Given the description of an element on the screen output the (x, y) to click on. 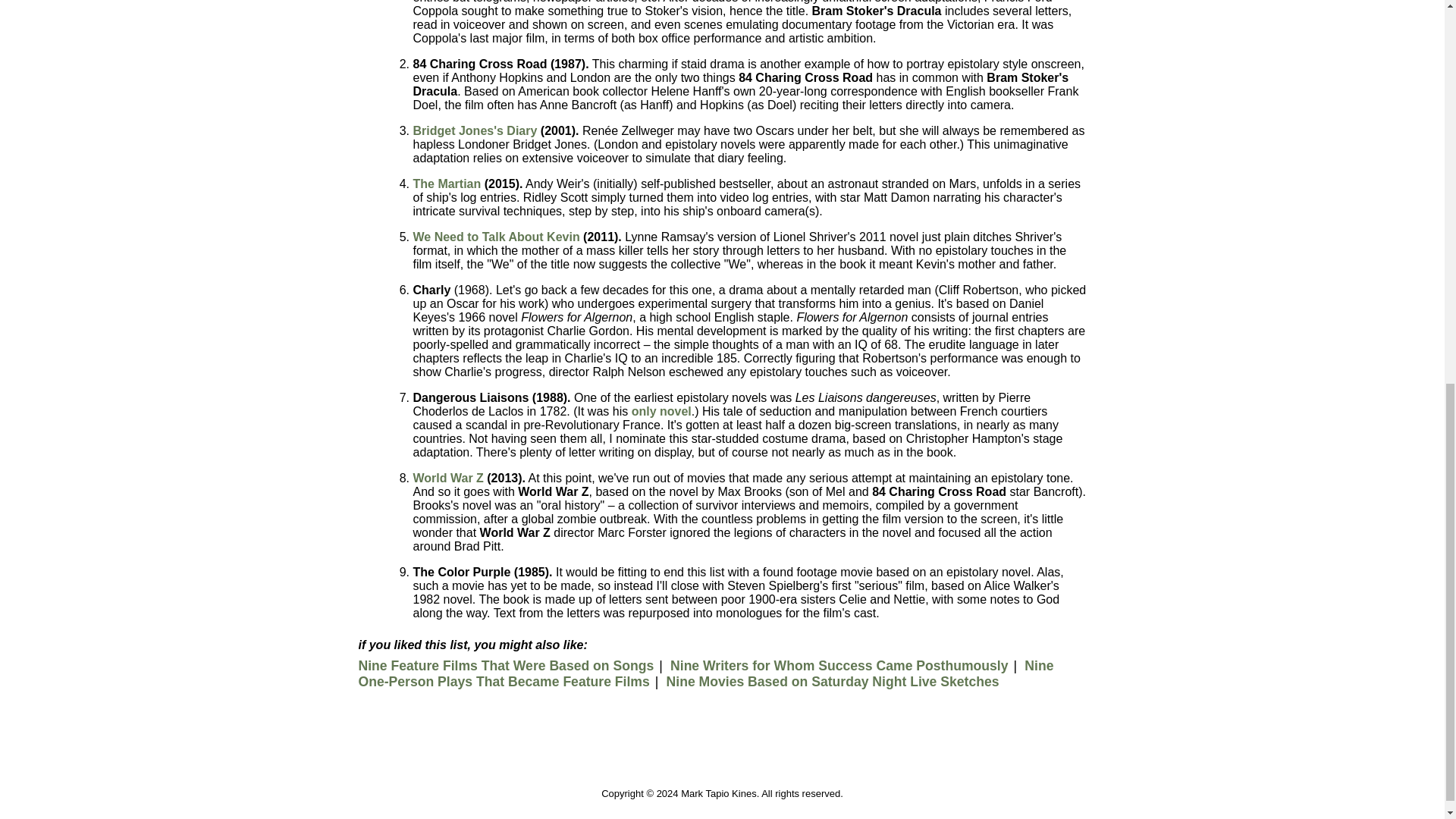
We Need to Talk About Kevin (495, 236)
Nine Feature Films That Were Based on Songs (505, 665)
The Martian (446, 183)
only novel (661, 410)
Bridget Jones's Diary (474, 130)
World War Z (447, 477)
